Given the description of an element on the screen output the (x, y) to click on. 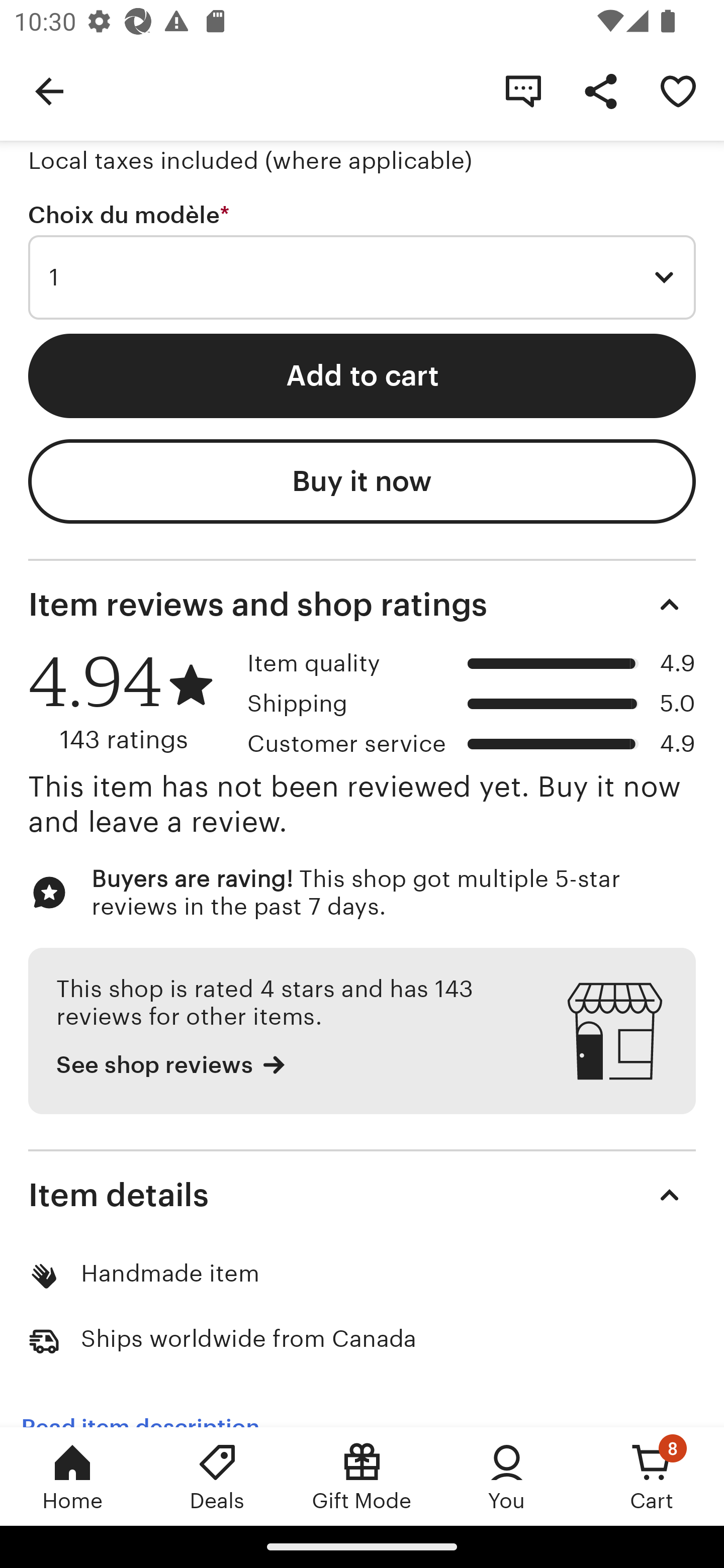
Navigate up (49, 90)
Contact shop (523, 90)
Share (600, 90)
Choix du modèle * Required 1 (361, 260)
1 (361, 277)
Add to cart (361, 375)
Buy it now (361, 481)
Item reviews and shop ratings (362, 604)
4.94 143 ratings (130, 702)
Item details (362, 1194)
Deals (216, 1475)
Gift Mode (361, 1475)
You (506, 1475)
Cart, 8 new notifications Cart (651, 1475)
